Given the description of an element on the screen output the (x, y) to click on. 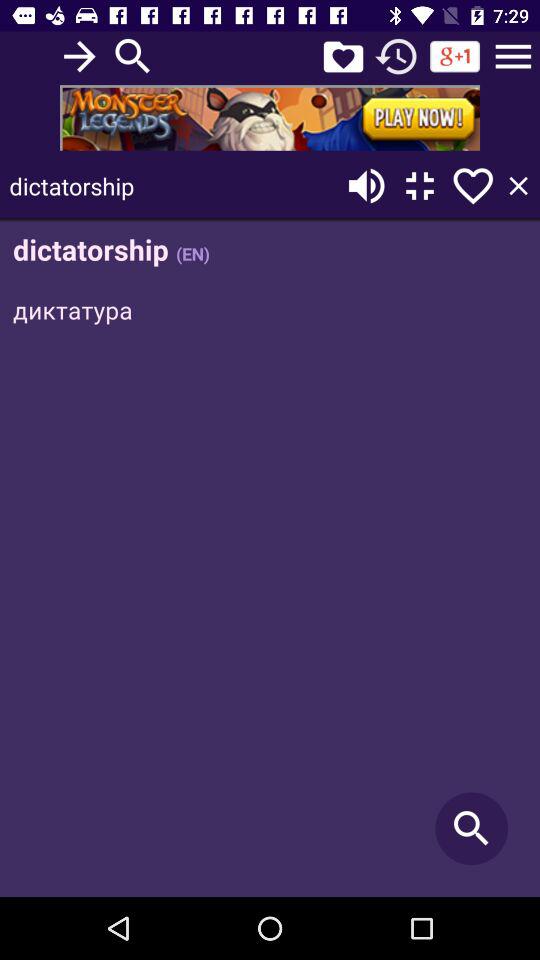
favorite the search (473, 185)
